Given the description of an element on the screen output the (x, y) to click on. 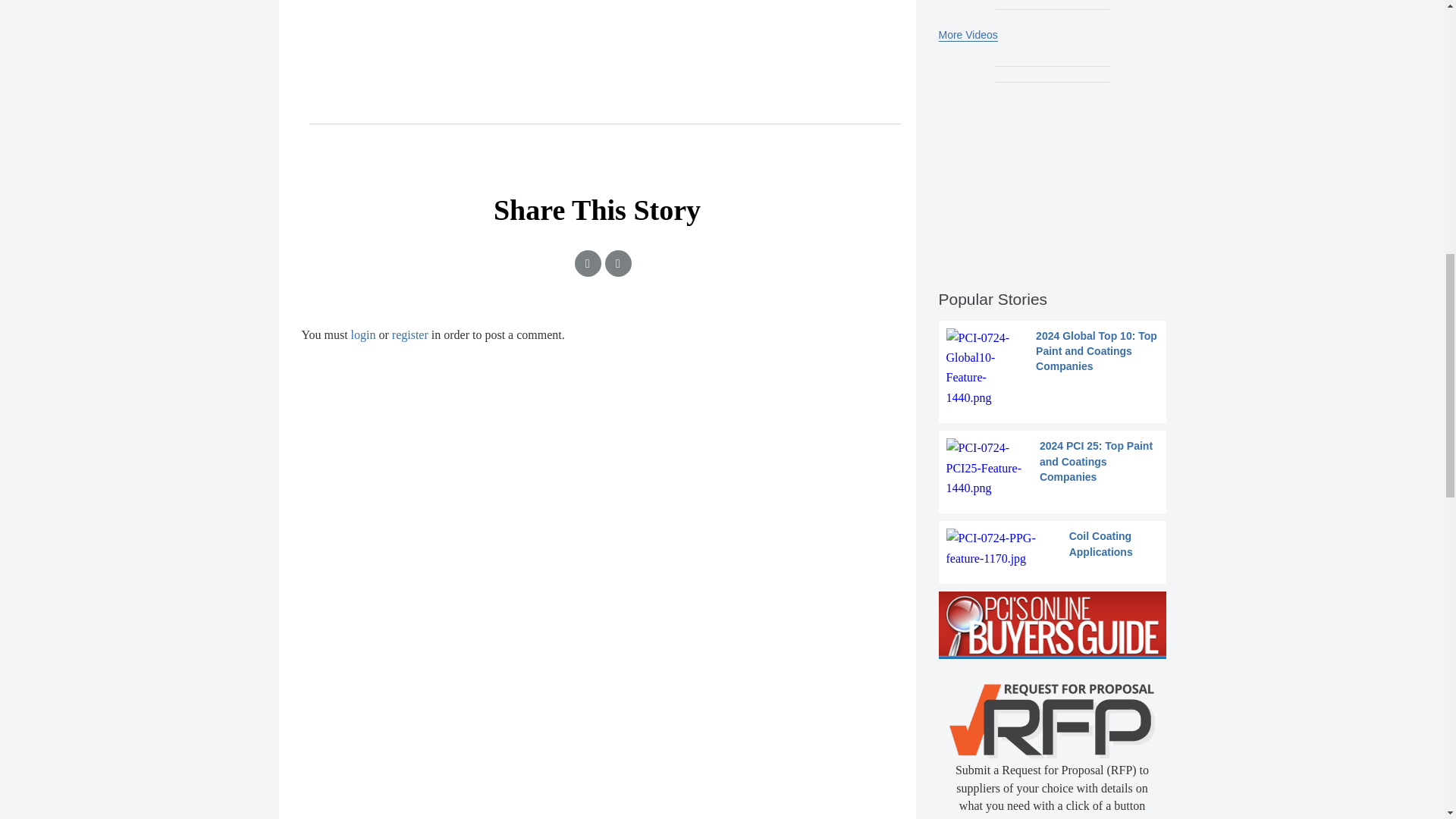
2024 PCI 25: Top Paint and Coatings Companies (1052, 467)
Coil Coating Applications (1052, 548)
2024 Global Top 10: Top Paint and Coatings Companies (1052, 368)
